Given the description of an element on the screen output the (x, y) to click on. 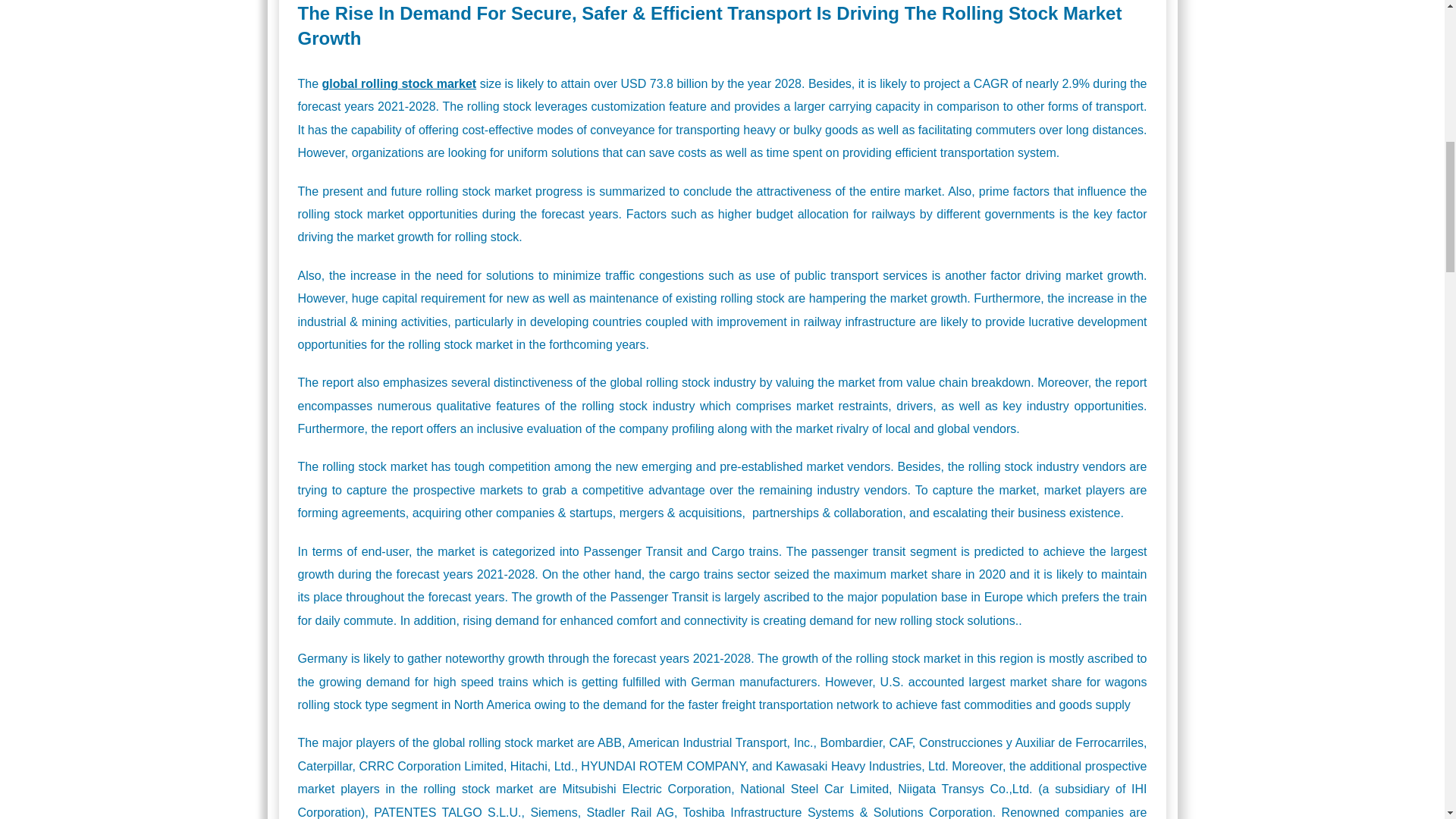
Press Release (722, 12)
